Given the description of an element on the screen output the (x, y) to click on. 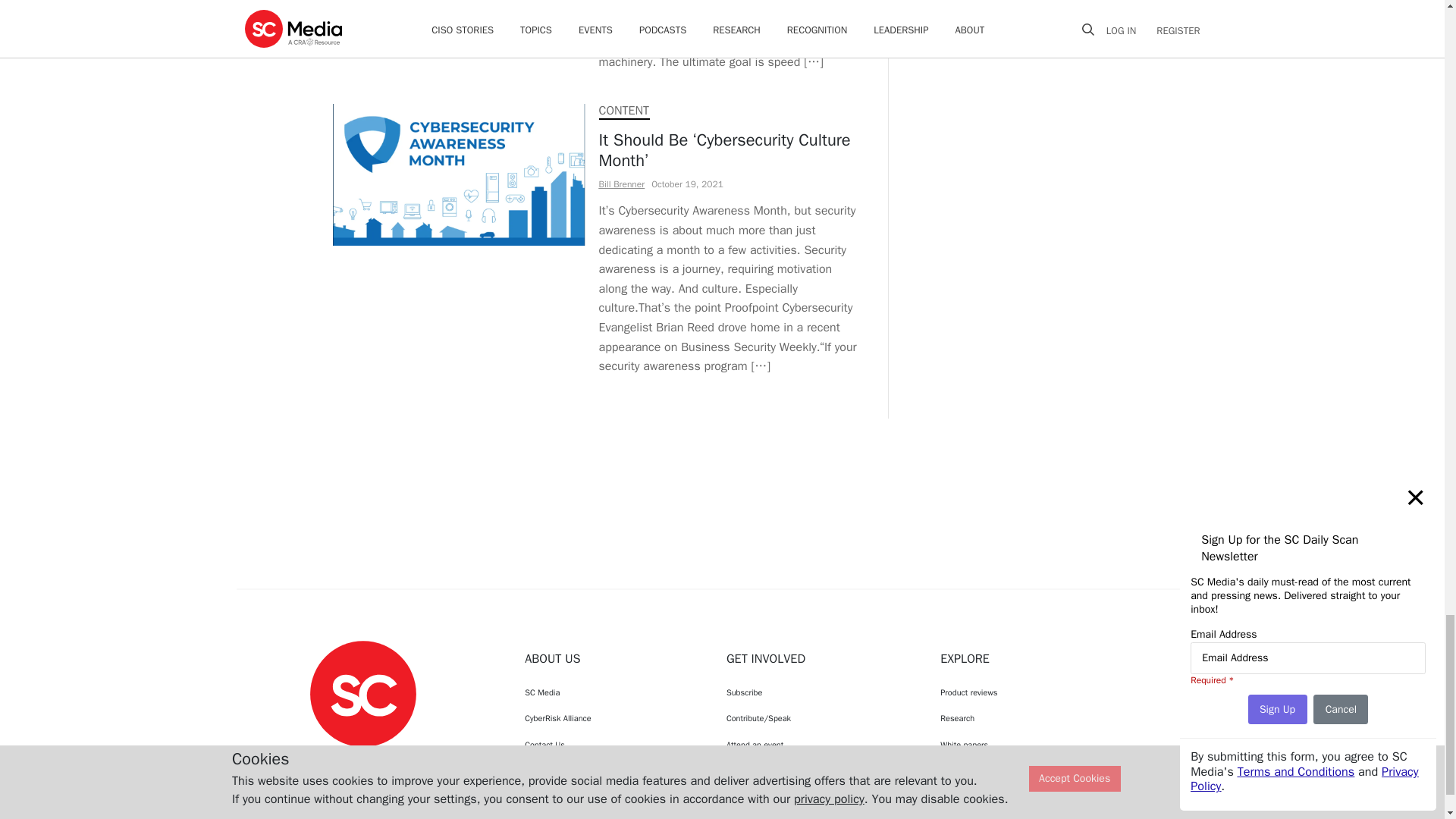
Contact Us (612, 744)
SC Media (612, 692)
SCMagazine on Twitter (362, 760)
Careers (612, 769)
Bill Brenner (621, 184)
SC Media (362, 693)
SCMagazine on LinkedIn (401, 760)
Privacy (612, 796)
SCMagazine on Facebook (324, 760)
CyberRisk Alliance (612, 718)
CONTENT (623, 110)
